Given the description of an element on the screen output the (x, y) to click on. 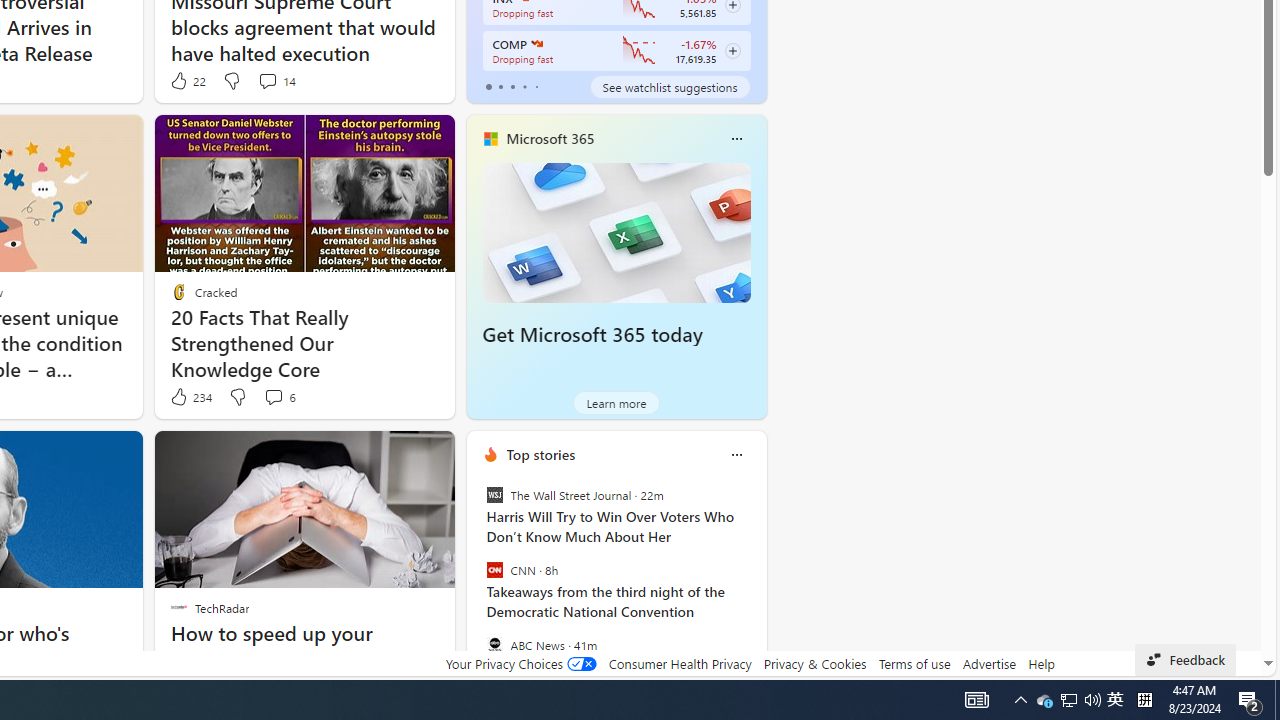
22 Like (186, 80)
View comments 6 Comment (273, 396)
ABC News (494, 644)
tab-0 (488, 86)
Get Microsoft 365 today (616, 232)
Top stories (540, 454)
previous (476, 583)
View comments 14 Comment (276, 80)
NASDAQ (535, 43)
